Given the description of an element on the screen output the (x, y) to click on. 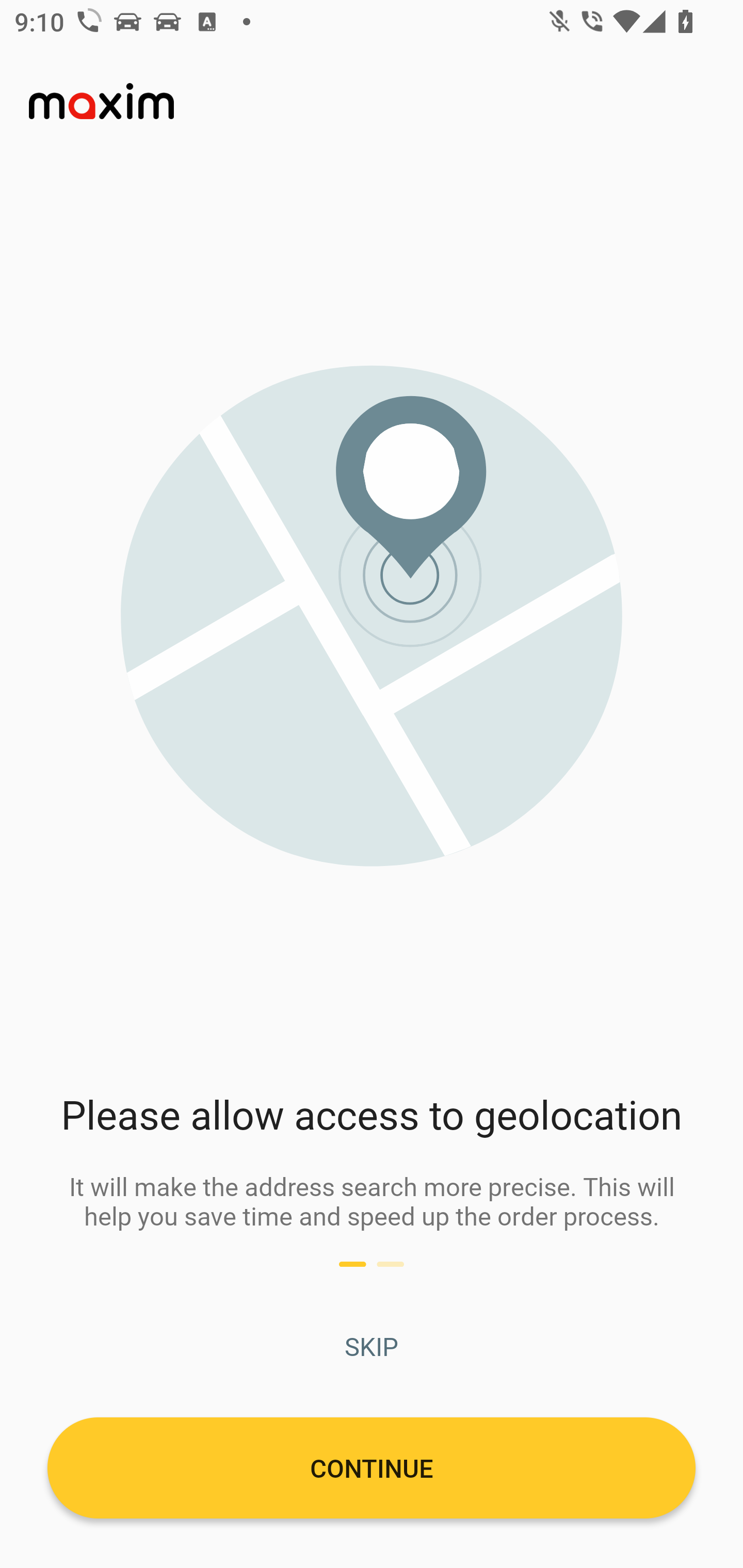
SKIP (371, 1346)
CONTINUE (371, 1467)
